Given the description of an element on the screen output the (x, y) to click on. 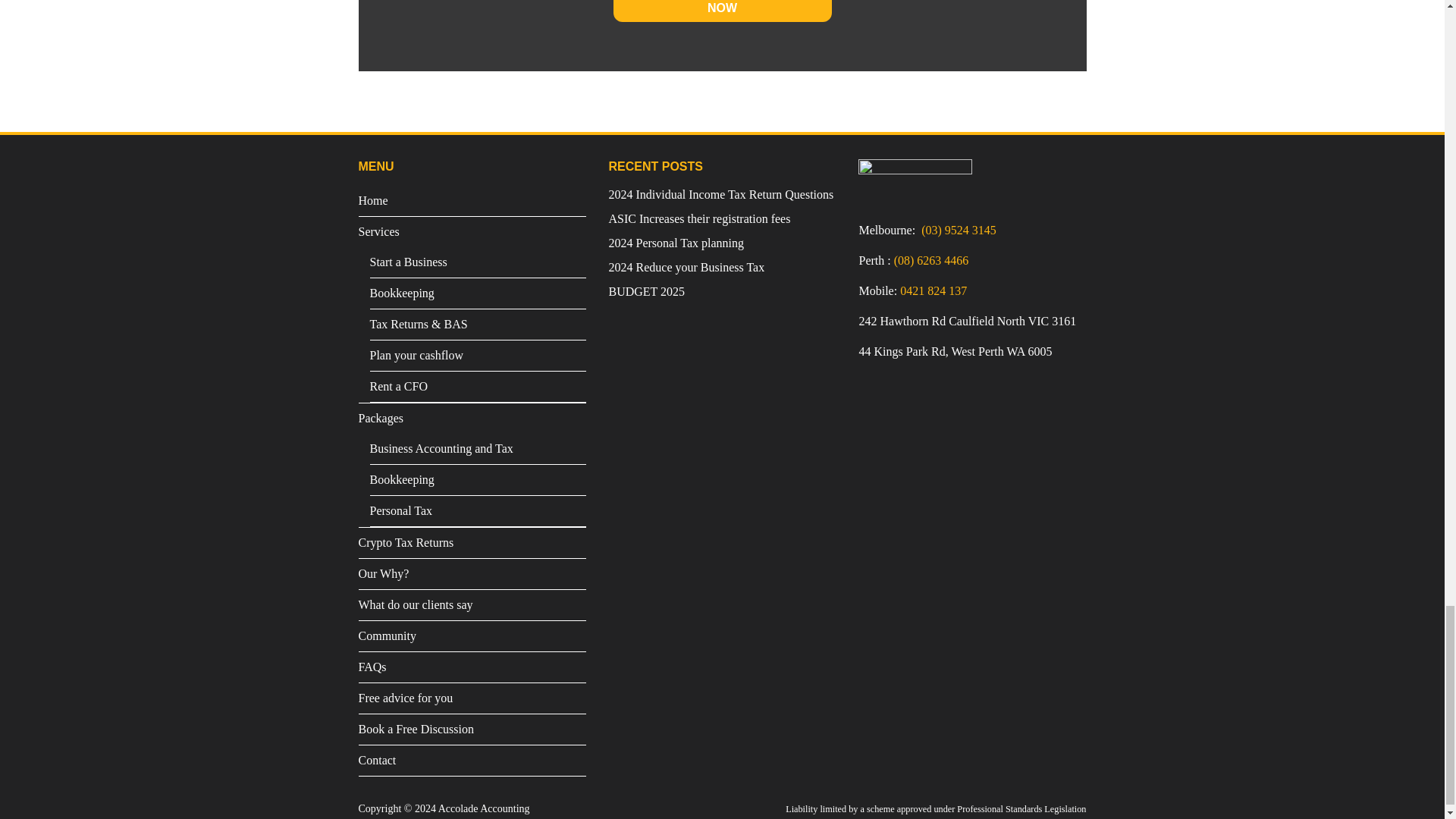
Home (472, 200)
Book me a FREE discussion NOW (721, 11)
Start a Business (477, 262)
Plan your cashflow (477, 355)
Bookkeeping (477, 293)
Services (472, 232)
Rent a CFO (477, 386)
Business Accounting and Tax (477, 449)
Bookkeeping (477, 480)
Packages (472, 418)
